Given the description of an element on the screen output the (x, y) to click on. 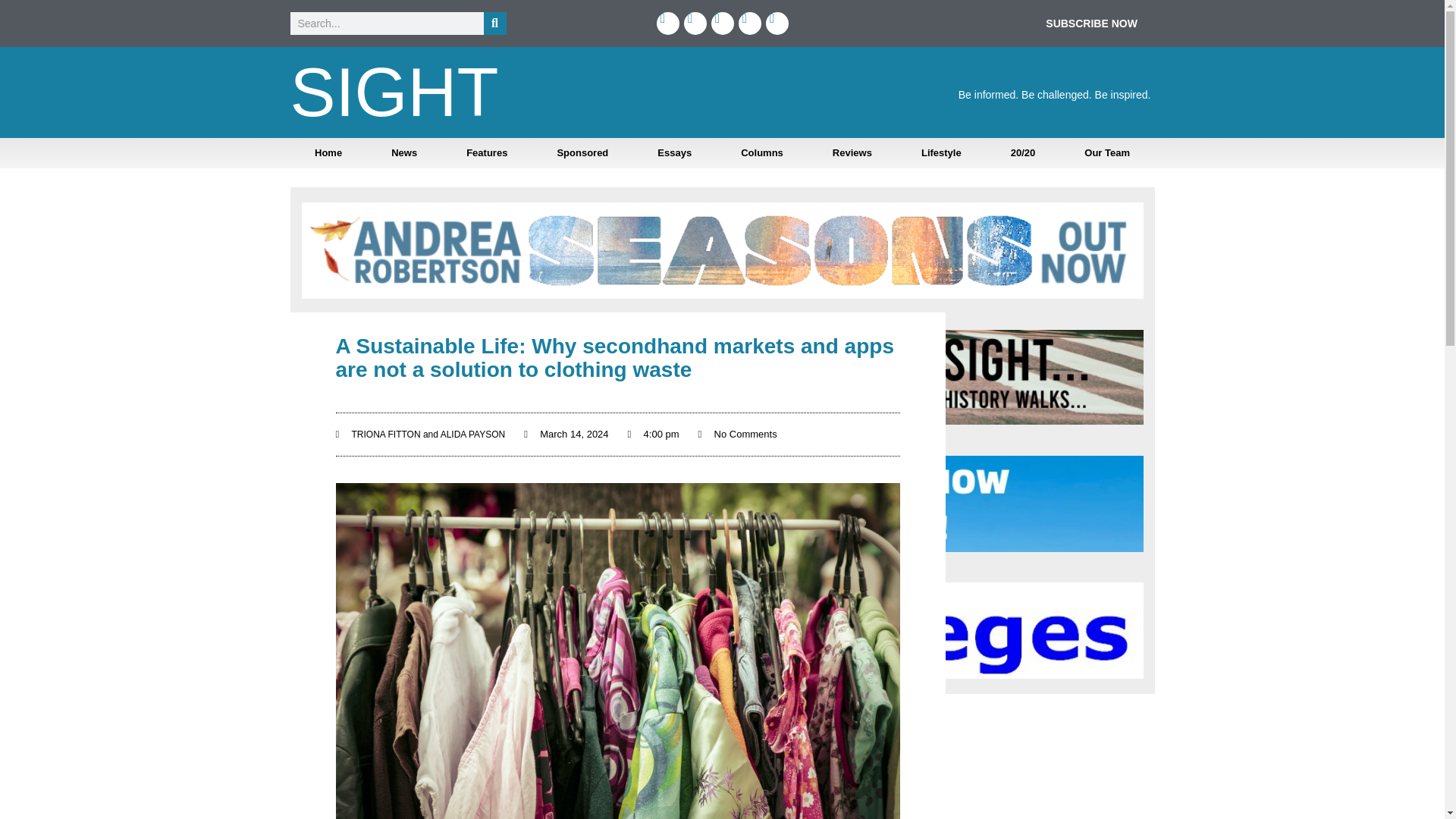
Columns (762, 153)
SUBSCRIBE NOW (1091, 23)
Features (487, 153)
News (404, 153)
Lifestyle (940, 153)
Essays (674, 153)
Sponsored (582, 153)
SIGHT (393, 92)
Reviews (852, 153)
Home (327, 153)
